Given the description of an element on the screen output the (x, y) to click on. 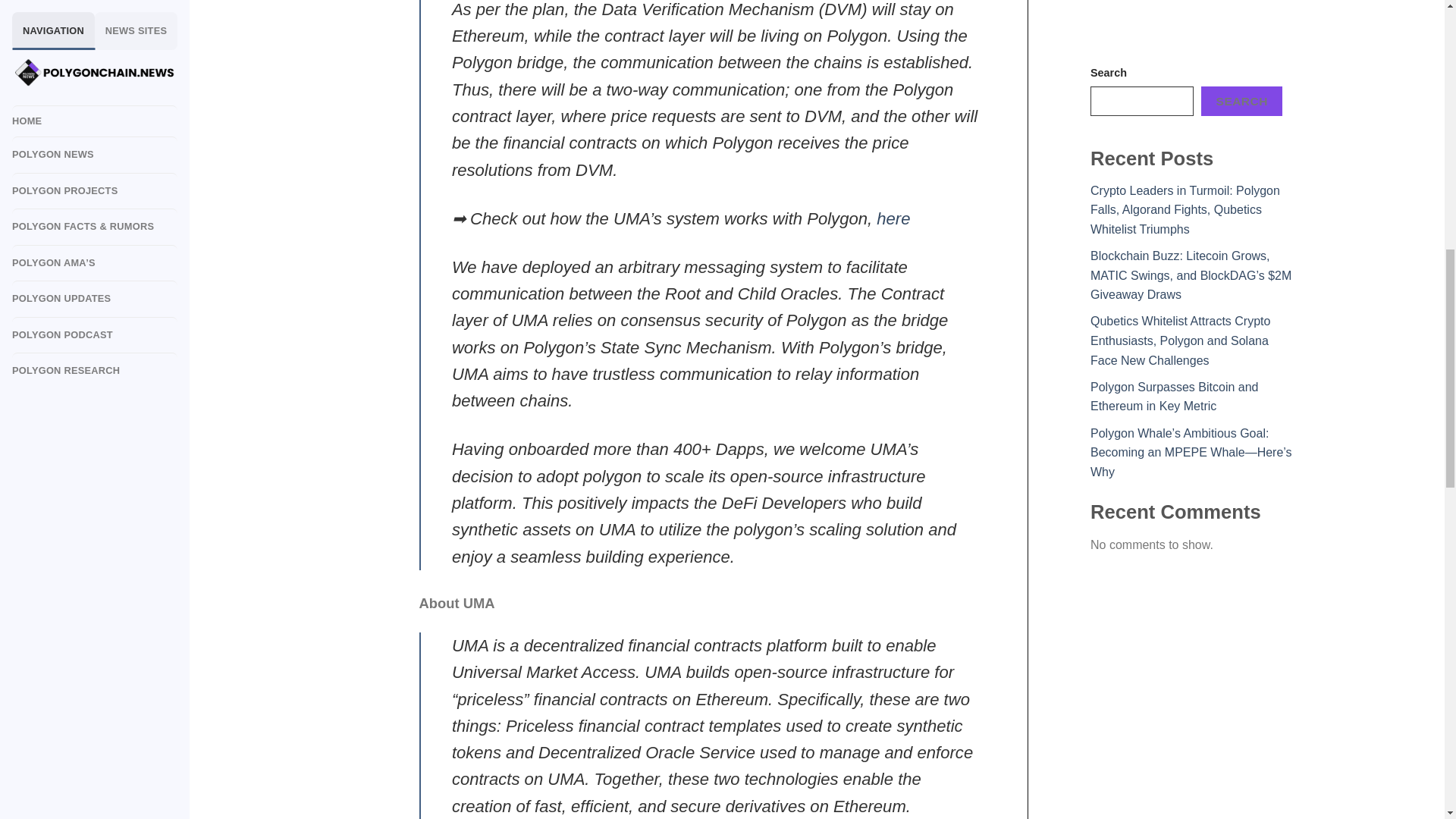
here (893, 218)
